Given the description of an element on the screen output the (x, y) to click on. 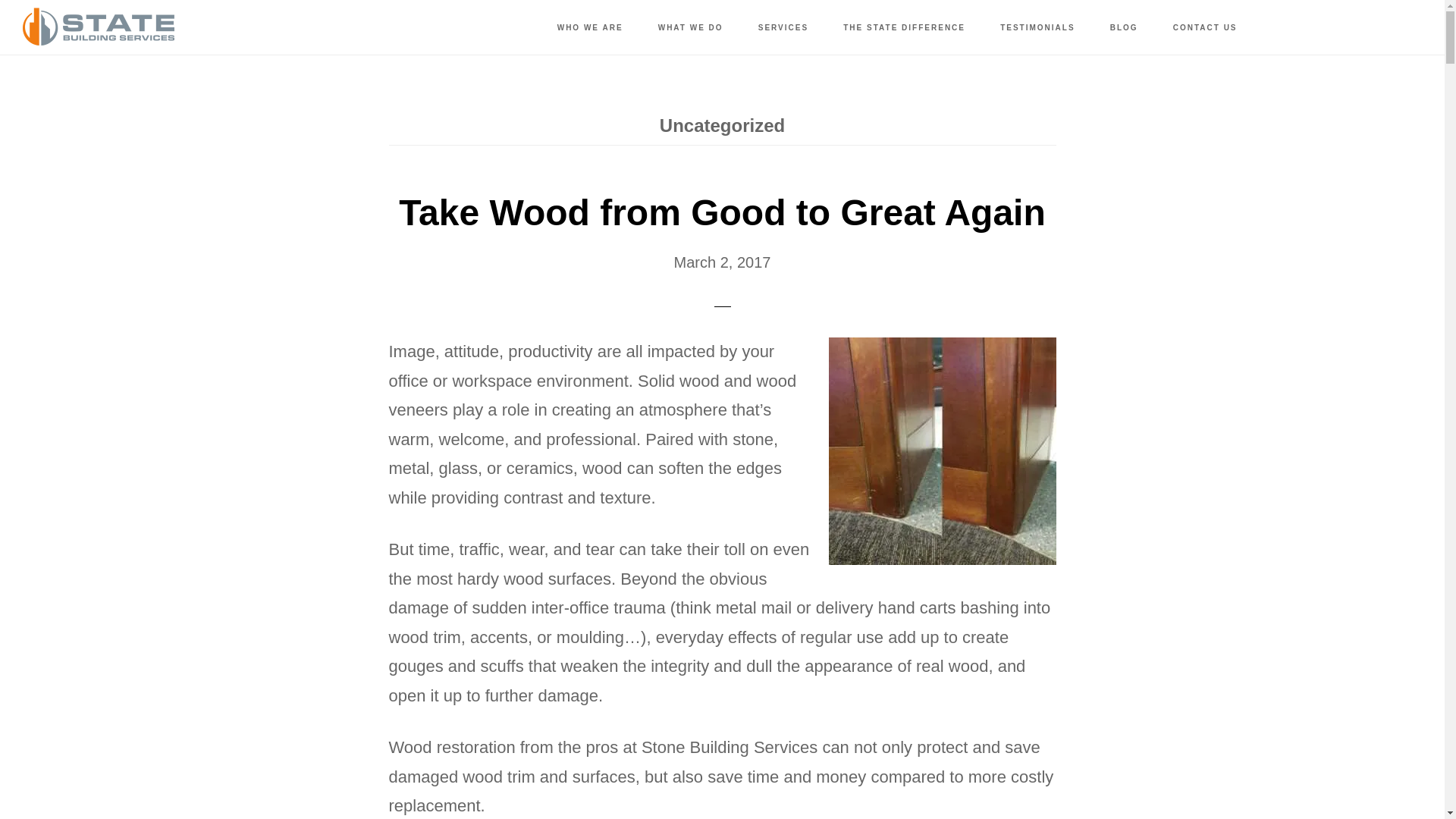
Take Wood from Good to Great Again (721, 212)
STATE BUILDING SERVICES (98, 26)
THE STATE DIFFERENCE (903, 27)
WHO WE ARE (590, 27)
BLOG (1123, 27)
TESTIMONIALS (1037, 27)
CONTACT US (1204, 27)
WHAT WE DO (690, 27)
SERVICES (783, 27)
